Given the description of an element on the screen output the (x, y) to click on. 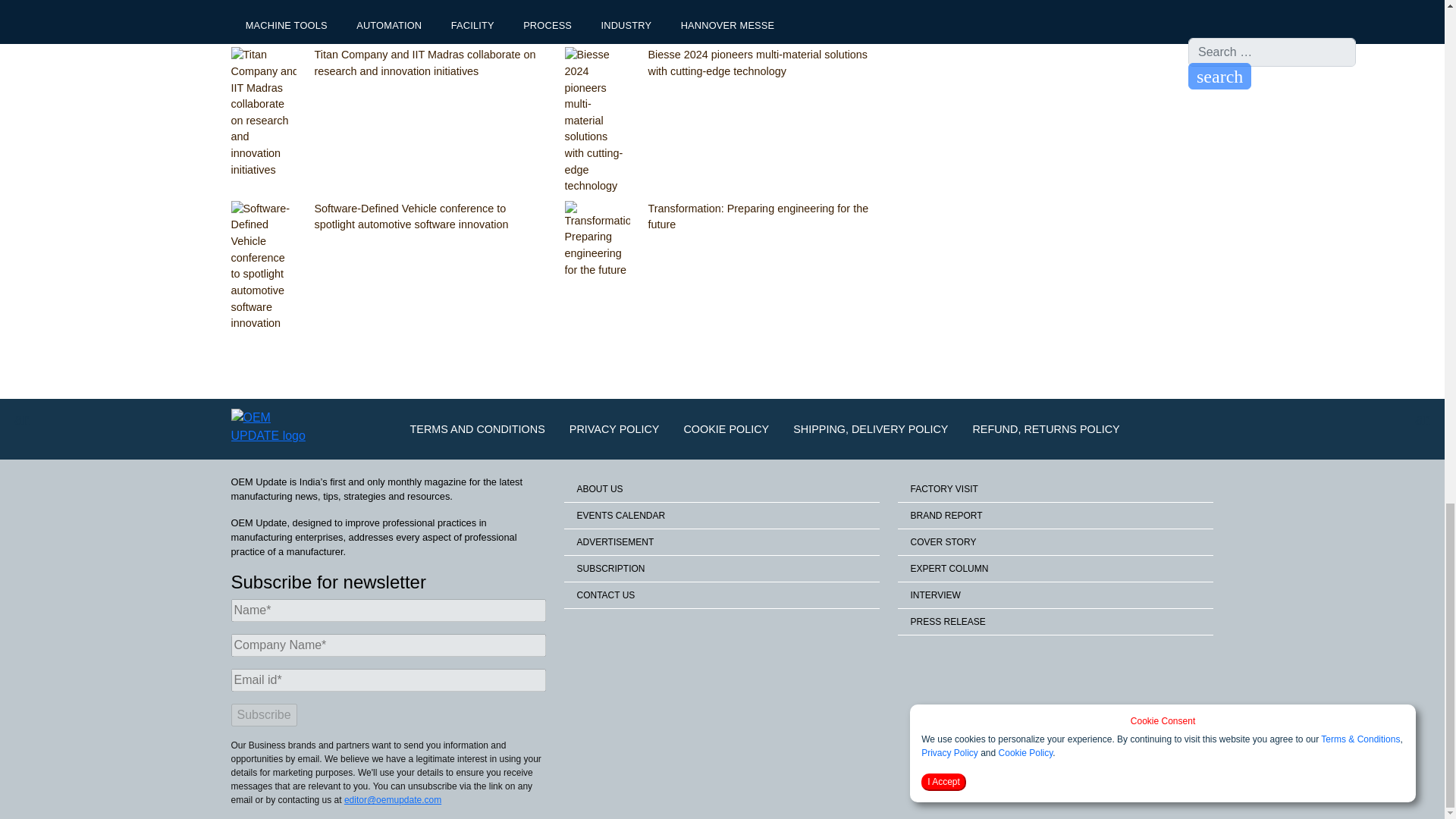
Subscribe (263, 714)
